Given the description of an element on the screen output the (x, y) to click on. 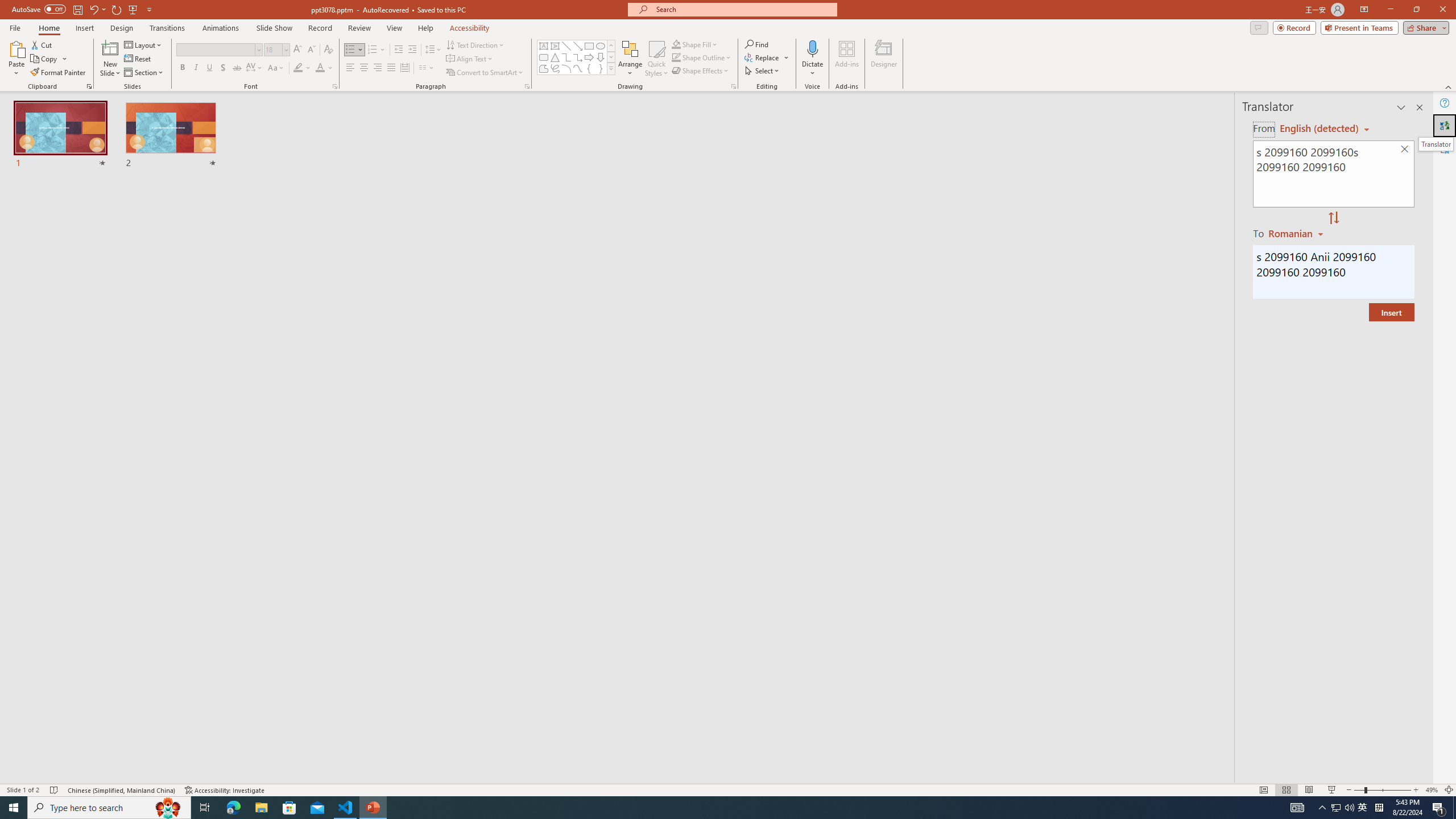
Zoom 49% (1431, 790)
